Given the description of an element on the screen output the (x, y) to click on. 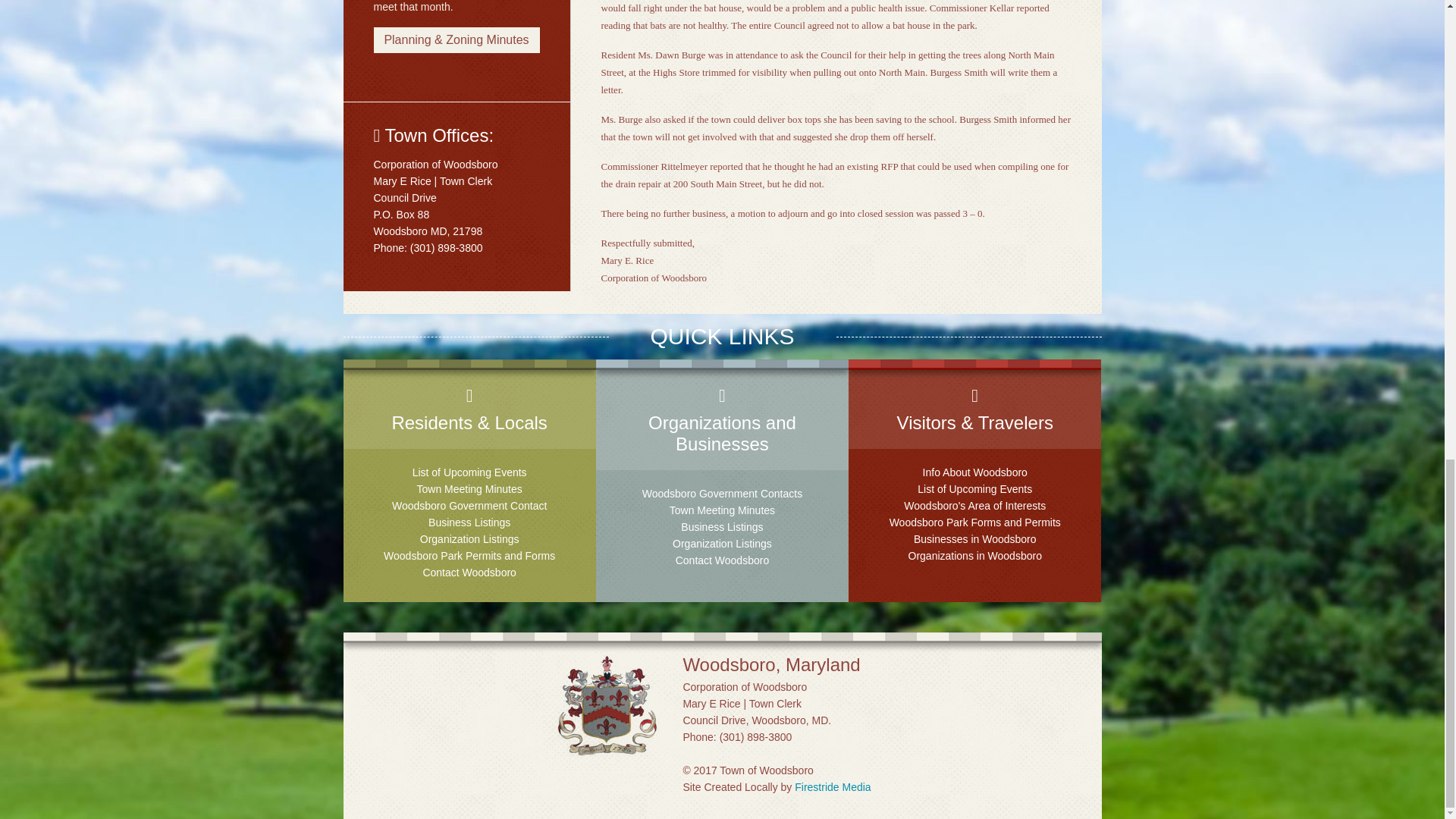
List of Upcoming Events (469, 472)
Info About Woodsboro (975, 472)
Contact Woodsboro (721, 560)
Woodsboro Park Permits and Forms (469, 555)
Organization Listings (721, 543)
Woodsboro Government Contact (469, 505)
Woodsboro Park Forms and Permits (975, 522)
Organization Listings (469, 539)
List of Upcoming Events (974, 489)
Woodsboro Government Contacts (722, 493)
Town Meeting Minutes (469, 489)
Business Listings (721, 526)
Contact Woodsboro (468, 572)
Town Meeting Minutes (721, 510)
Woodsboro's Area of Interests (974, 505)
